Given the description of an element on the screen output the (x, y) to click on. 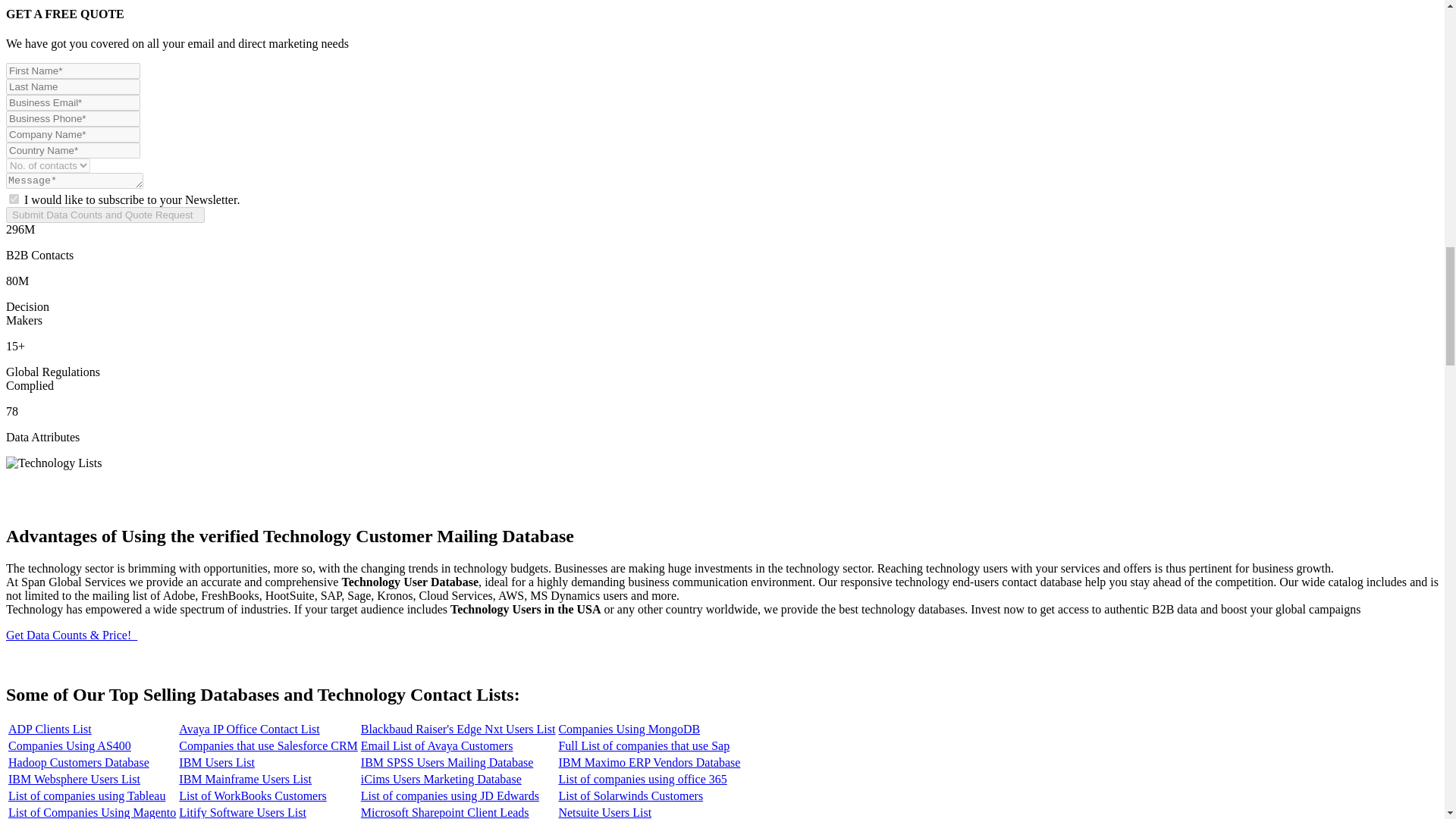
Companies that use Salesforce CRM (268, 745)
IBM Mainframe Users Email List (245, 779)
Hadoop Customers Database (78, 762)
Blackbaud Raiser's Edge Nxt Users List (458, 728)
IBM Maximo ERP Vendors Database (648, 762)
Email List of Avaya Customers (437, 745)
ADP Clients List (49, 728)
Technology Lists (53, 463)
Avaya IP Office Contact List (248, 728)
newslettersubscribe (13, 198)
Full List of Companies that use Sap (643, 745)
Companies Using AS400 (69, 745)
IBM Users List (216, 762)
IBM SPSS Users Email List (447, 762)
Companies Using MongoDB (628, 728)
